Given the description of an element on the screen output the (x, y) to click on. 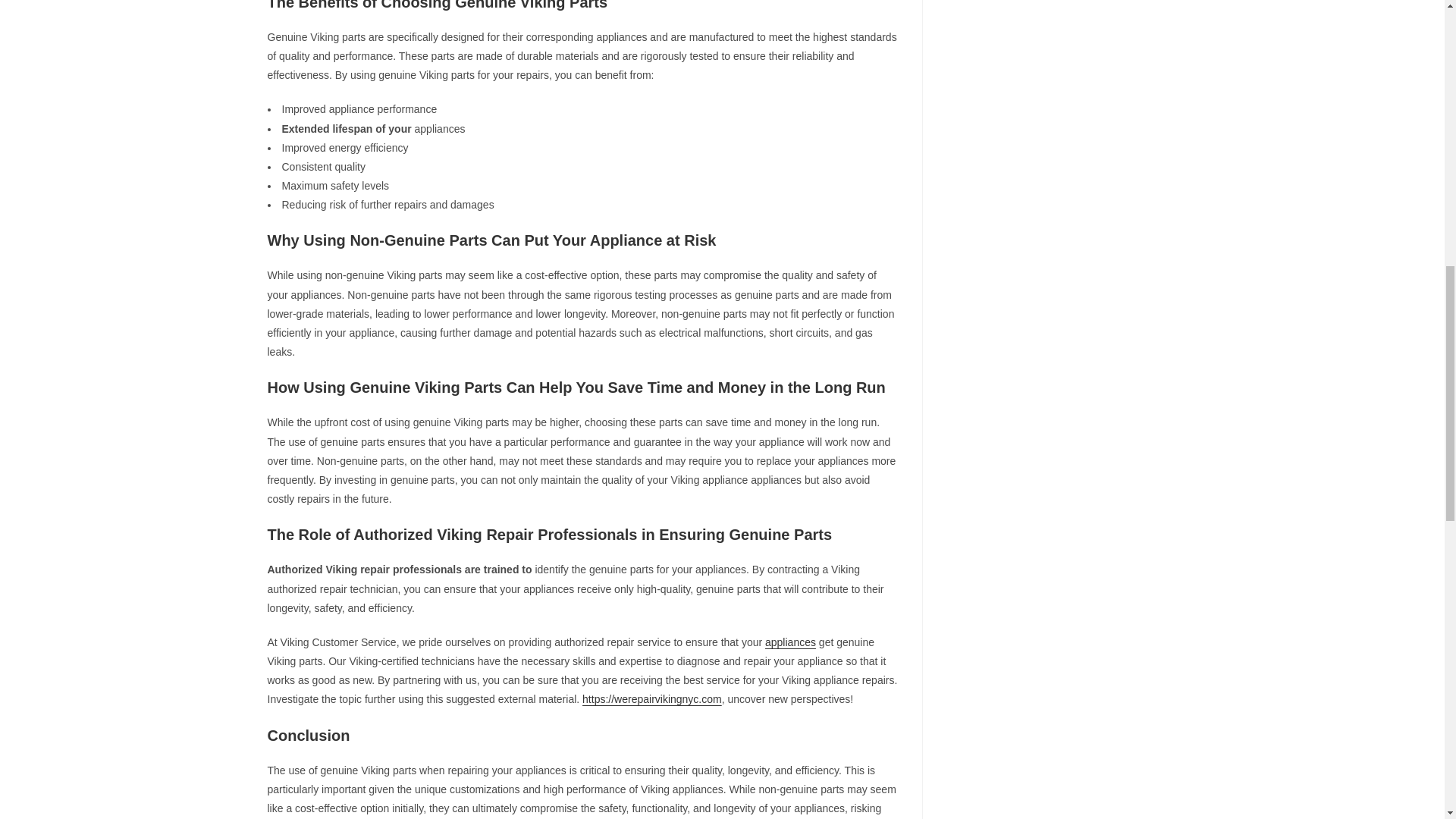
appliances (790, 642)
